Given the description of an element on the screen output the (x, y) to click on. 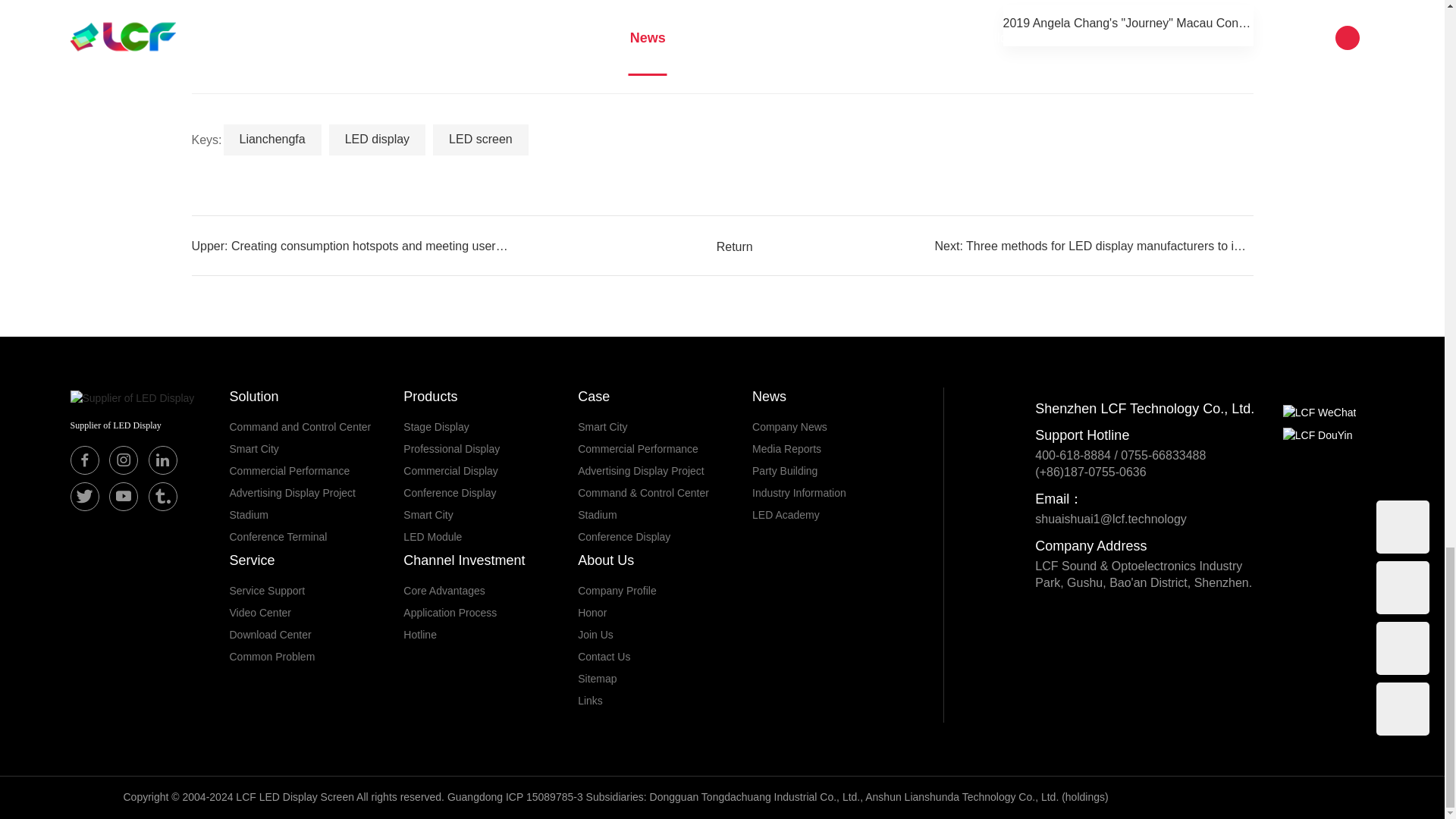
LCF Facebook (84, 460)
LCF Instagram  (123, 460)
LCF Tumblr (162, 496)
LCF LinKedin  (162, 460)
LCF Twitter (84, 496)
LCF YouTube (123, 496)
